Given the description of an element on the screen output the (x, y) to click on. 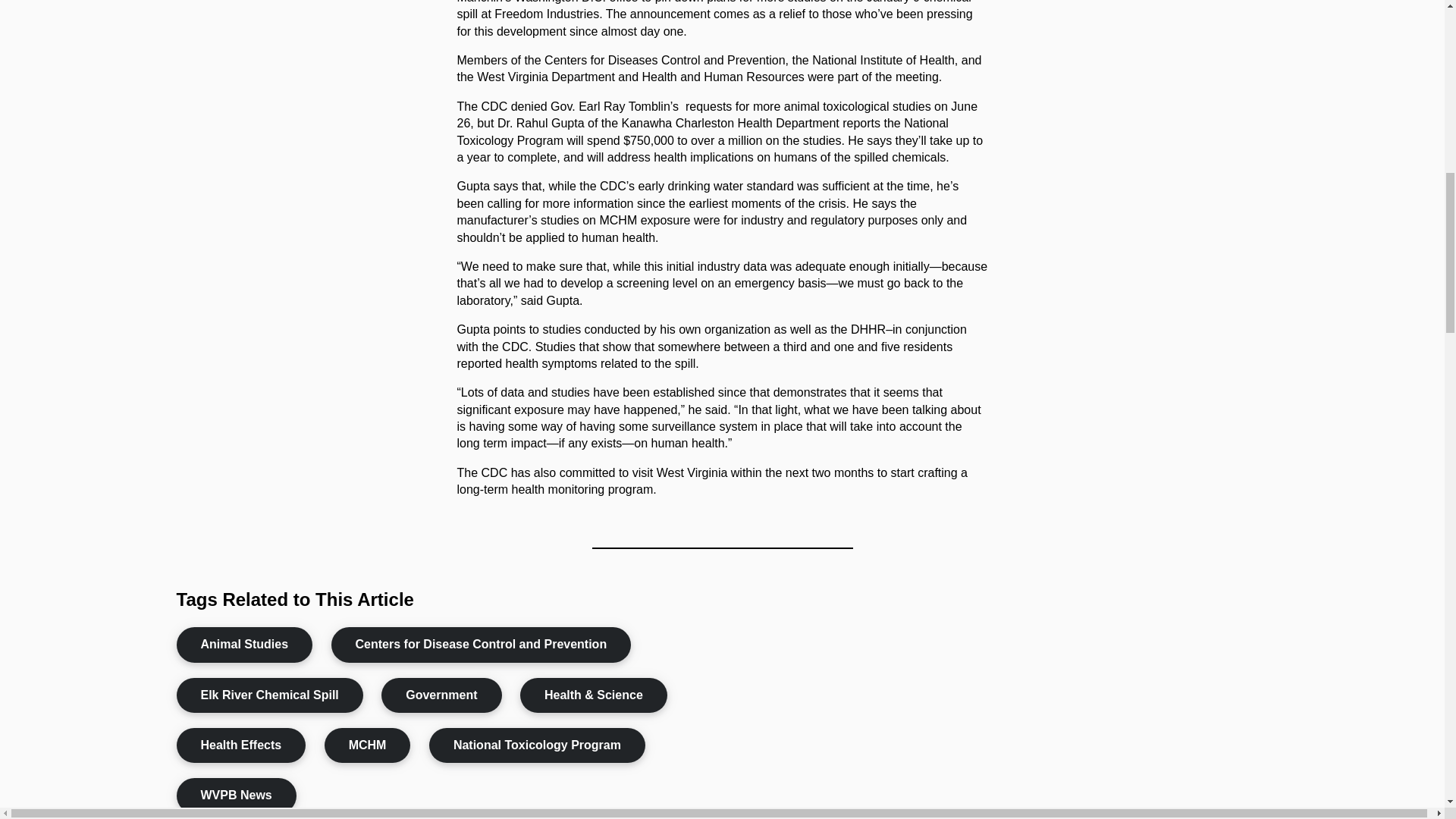
Centers for Disease Control and Prevention (481, 644)
Elk River Chemical Spill (269, 695)
Animal Studies (244, 644)
Health Effects (240, 745)
WVPB News (235, 795)
MCHM (367, 745)
Government (440, 695)
National Toxicology Program (537, 745)
